Given the description of an element on the screen output the (x, y) to click on. 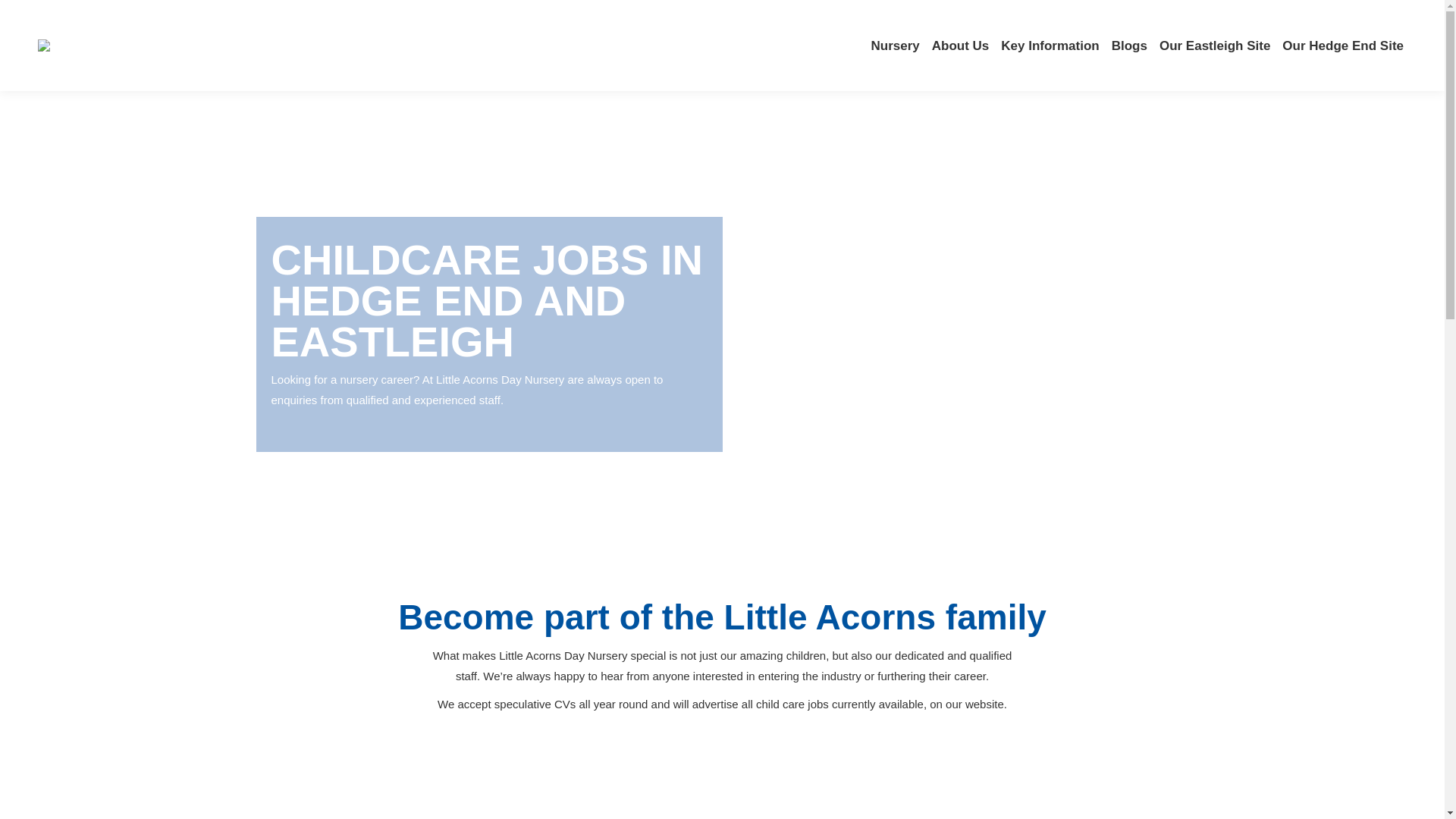
Key Information (1049, 45)
Our Hedge End Site (1342, 45)
About Us (960, 45)
Our Eastleigh Site (1214, 45)
Nursery (894, 45)
Blogs (1129, 45)
